Given the description of an element on the screen output the (x, y) to click on. 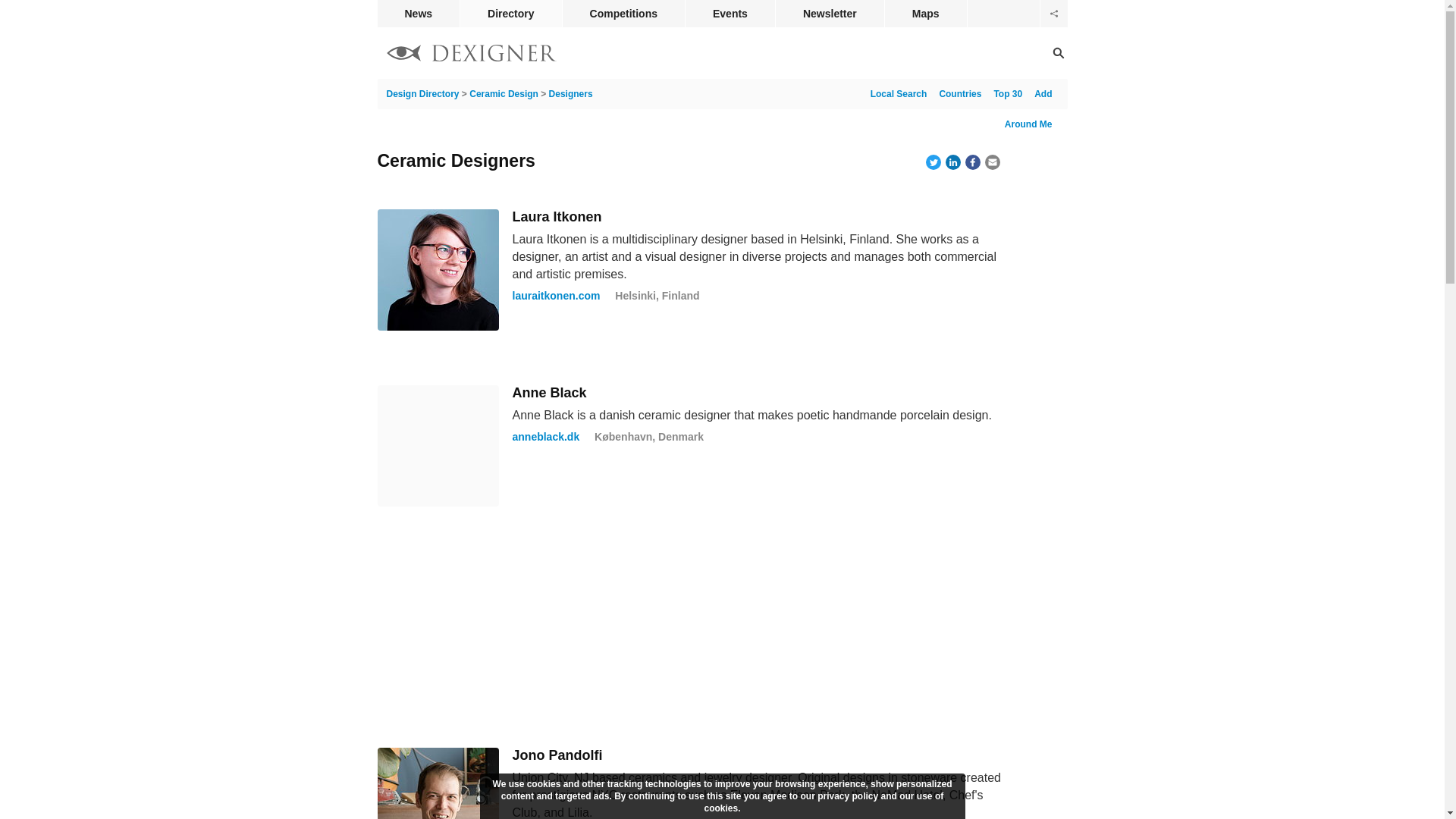
News (418, 13)
anneblack.dk (545, 436)
follow dexigner (1054, 13)
Design Directory (471, 54)
Add (1039, 93)
Competitions (623, 13)
Advertisement (690, 626)
lauraitkonen.com (555, 295)
Designers (570, 93)
Jono Pandolfi (557, 754)
Anne Black (549, 392)
Around Me (1028, 123)
Events (729, 13)
Maps (925, 13)
Local Search (895, 93)
